Given the description of an element on the screen output the (x, y) to click on. 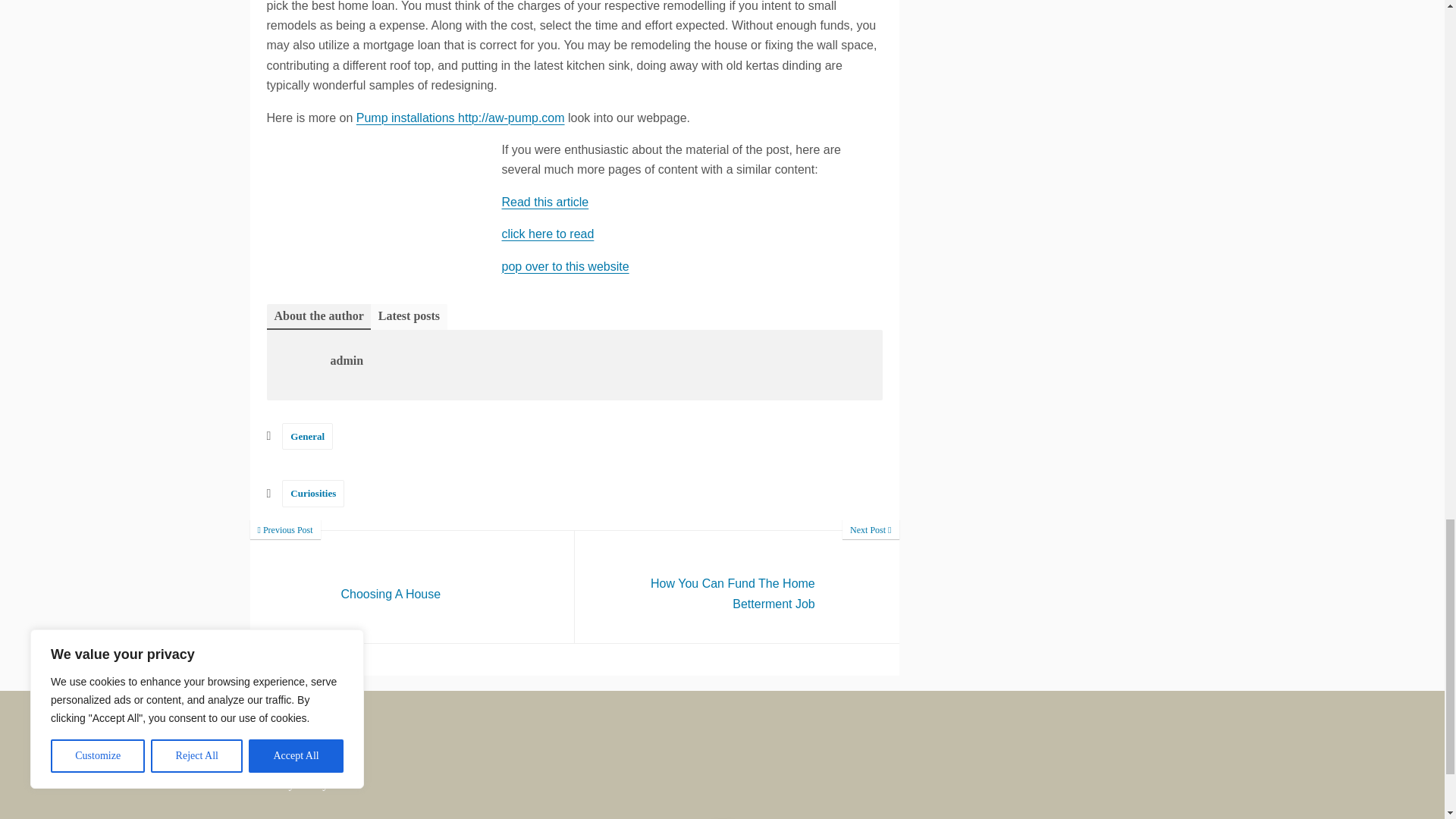
How You Can Fund The Home Betterment Job (737, 586)
Curiosities (737, 586)
click here to read (312, 492)
General (548, 233)
Choosing A House (412, 586)
pop over to this website (307, 436)
Read this article (412, 586)
